Given the description of an element on the screen output the (x, y) to click on. 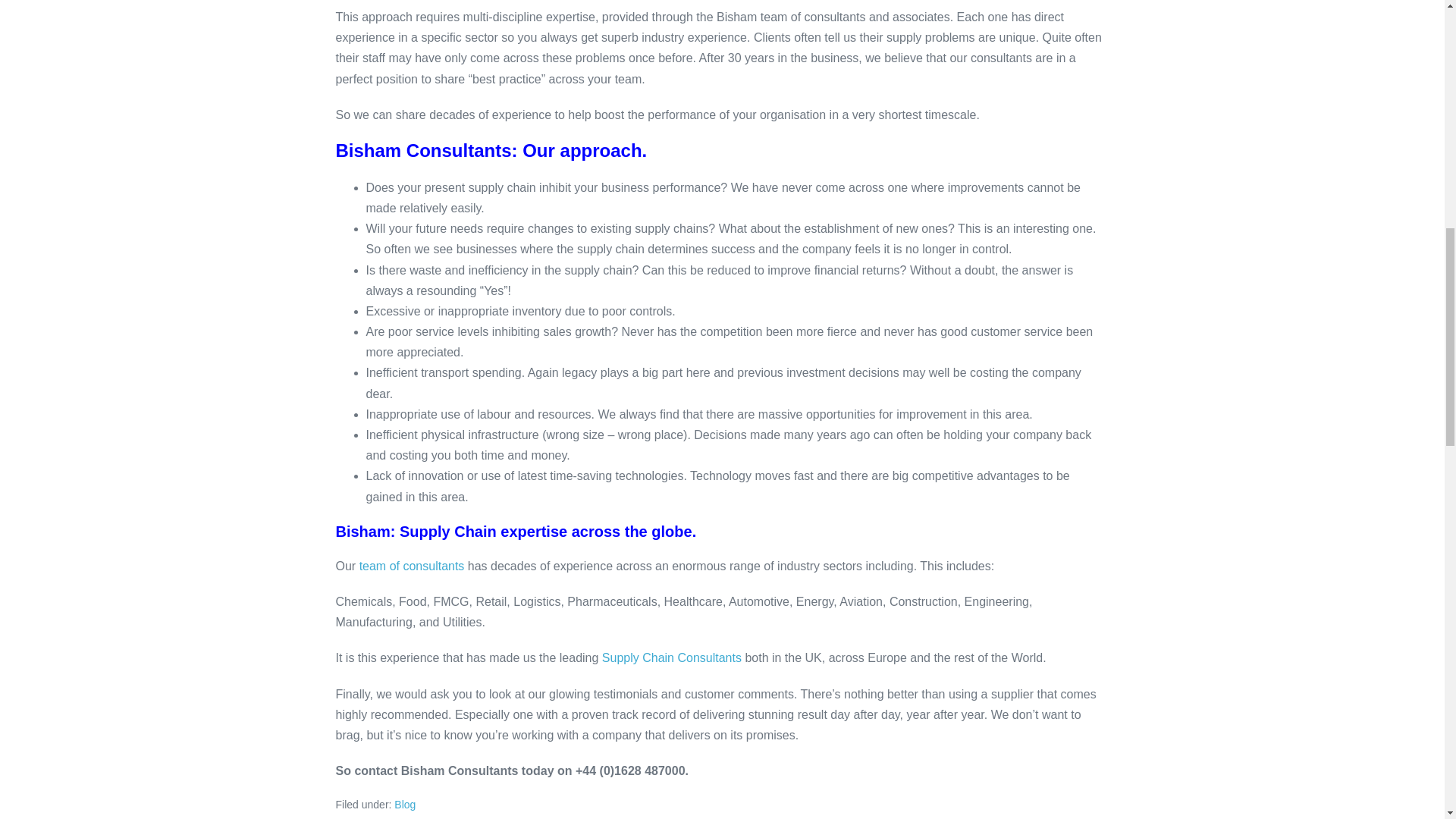
Blog (404, 804)
Supply Chain Consultants (671, 657)
team of consultants (411, 565)
